Given the description of an element on the screen output the (x, y) to click on. 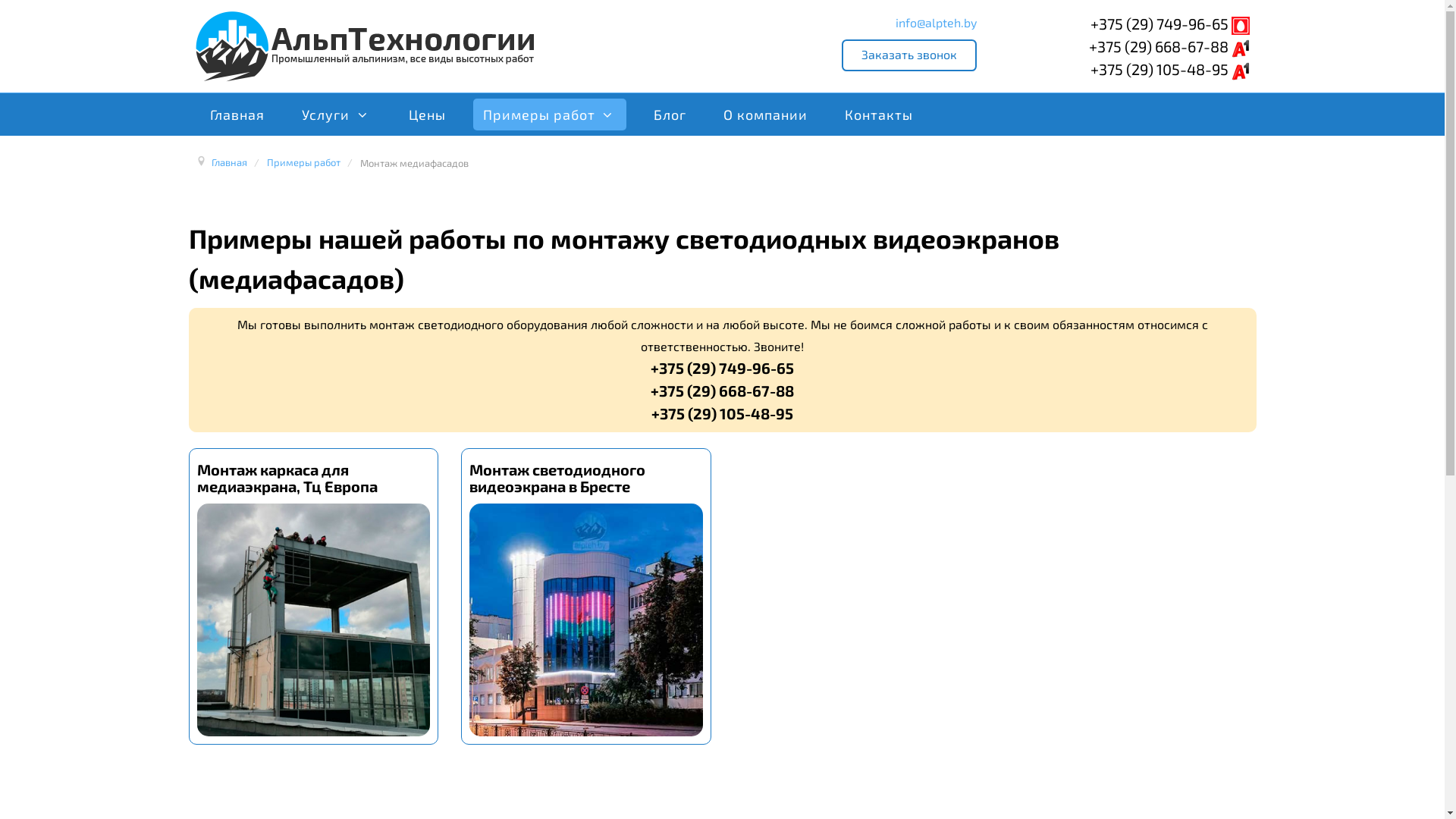
+375 (29) 105-48-95 Element type: text (1169, 68)
+375 (29) 749-96-65 Element type: text (1169, 23)
info@alpteh.by Element type: text (935, 22)
+375 (29) 668-67-88 Element type: text (1168, 46)
